Given the description of an element on the screen output the (x, y) to click on. 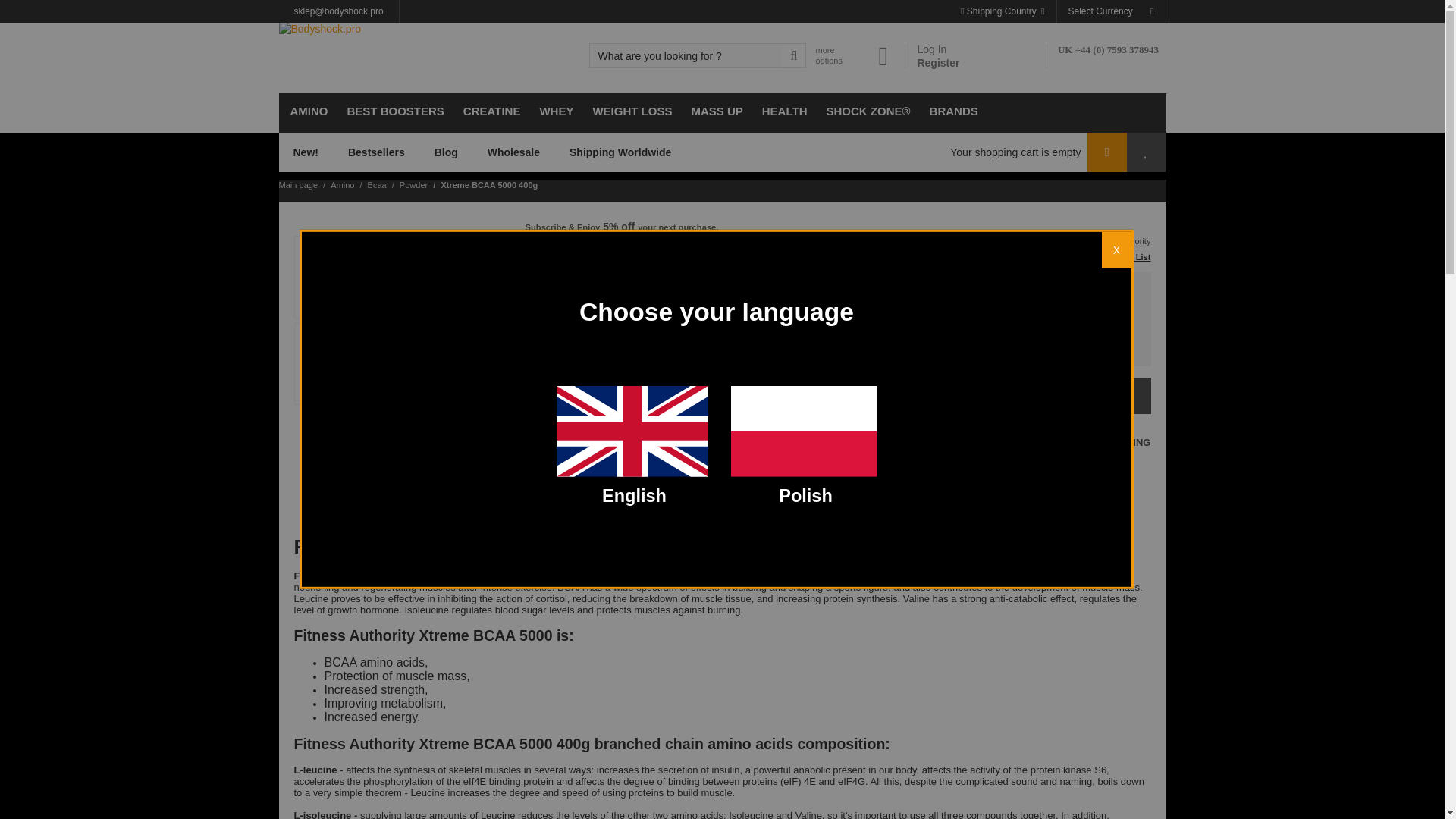
Best Boosters (392, 112)
Mass Up (714, 112)
Whey (553, 112)
Bestsellers (376, 151)
Creatine (489, 112)
AMINO (307, 112)
more options (826, 55)
Amino (307, 112)
Brands (951, 112)
New! (306, 151)
